Given the description of an element on the screen output the (x, y) to click on. 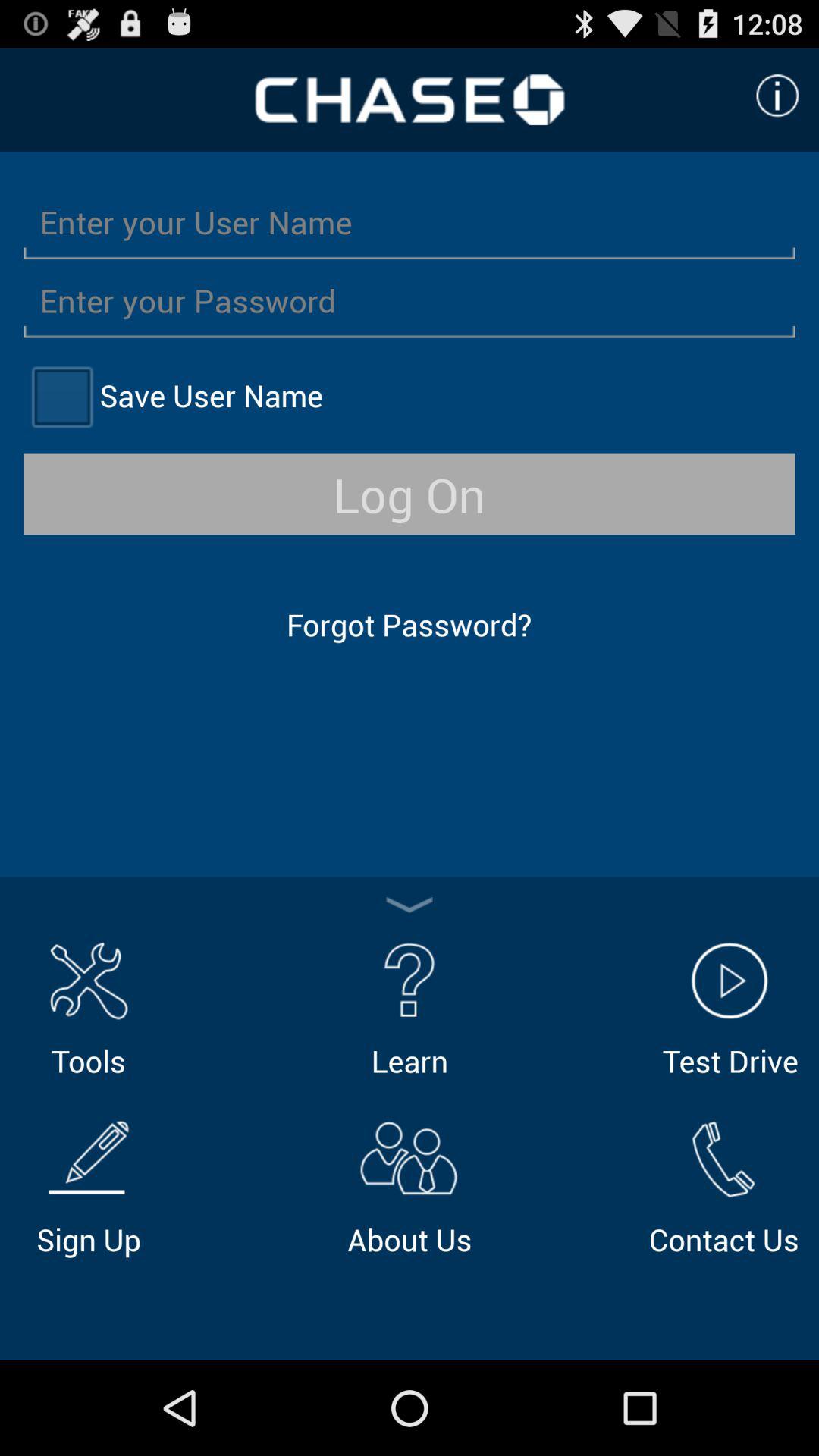
press item above sign up (88, 1006)
